Given the description of an element on the screen output the (x, y) to click on. 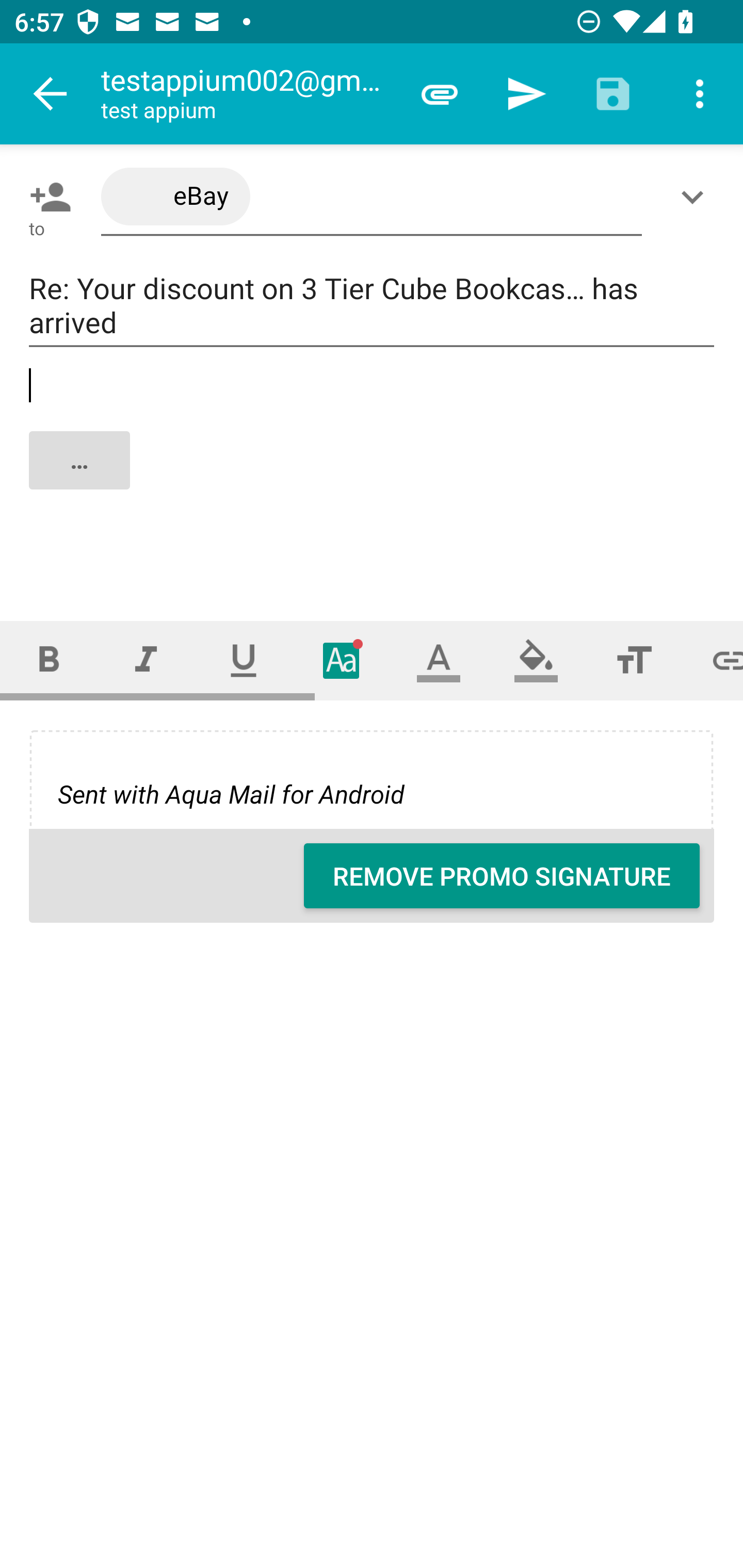
Navigate up (50, 93)
testappium002@gmail.com test appium (248, 93)
Attach (439, 93)
Send (525, 93)
Save (612, 93)
More options (699, 93)
eBay <ebay@ebay.com>,  (371, 197)
Pick contact: To (46, 196)
Show/Add CC/BCC (696, 196)

…
 (372, 477)
Bold (48, 660)
Italic (145, 660)
Underline (243, 660)
Typeface (font) (341, 660)
Text color (438, 660)
Fill color (536, 660)
Font size (633, 660)
REMOVE PROMO SIGNATURE (501, 875)
